Given the description of an element on the screen output the (x, y) to click on. 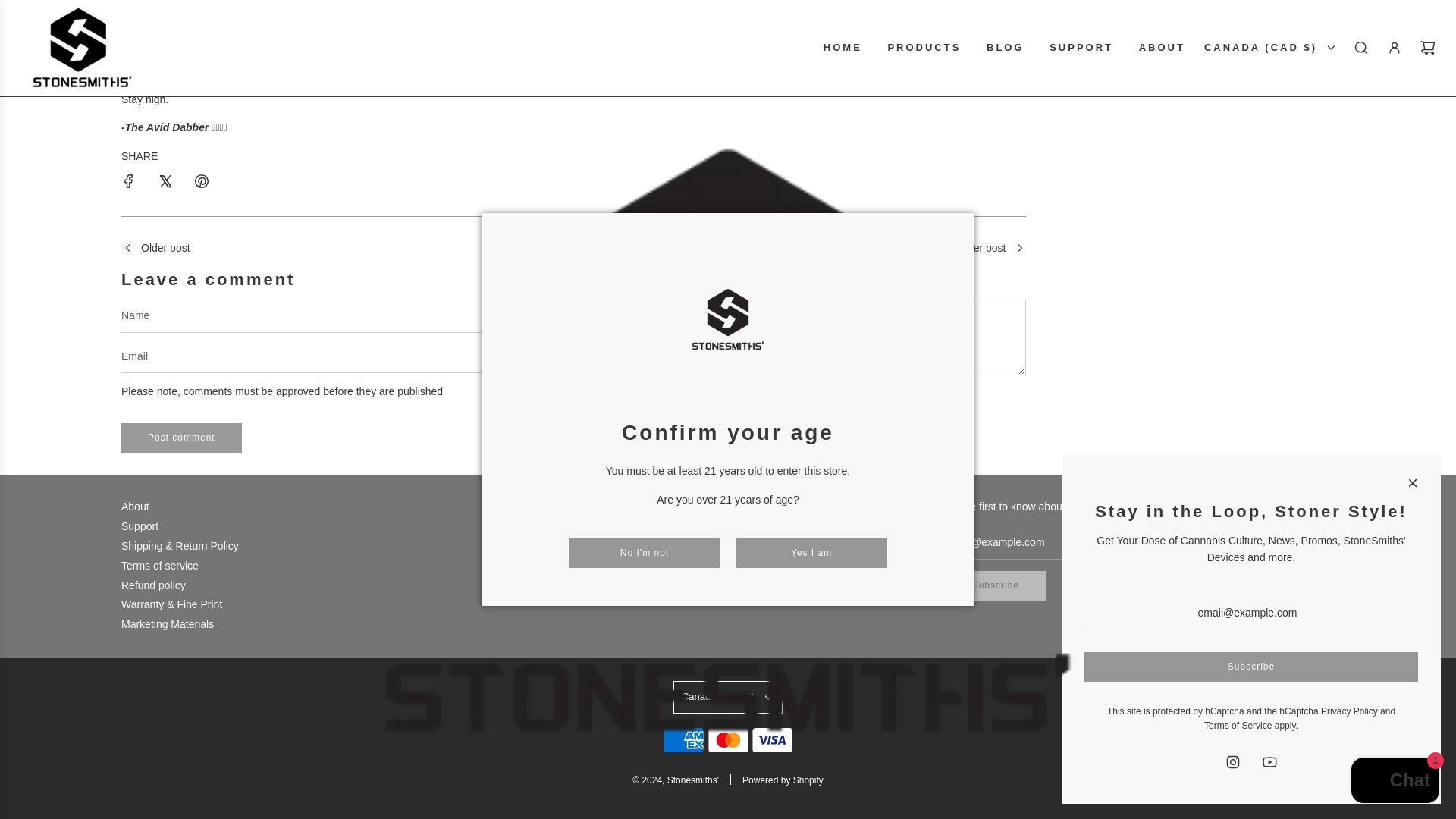
American Express (683, 739)
Mastercard (727, 739)
Visa (772, 739)
